Given the description of an element on the screen output the (x, y) to click on. 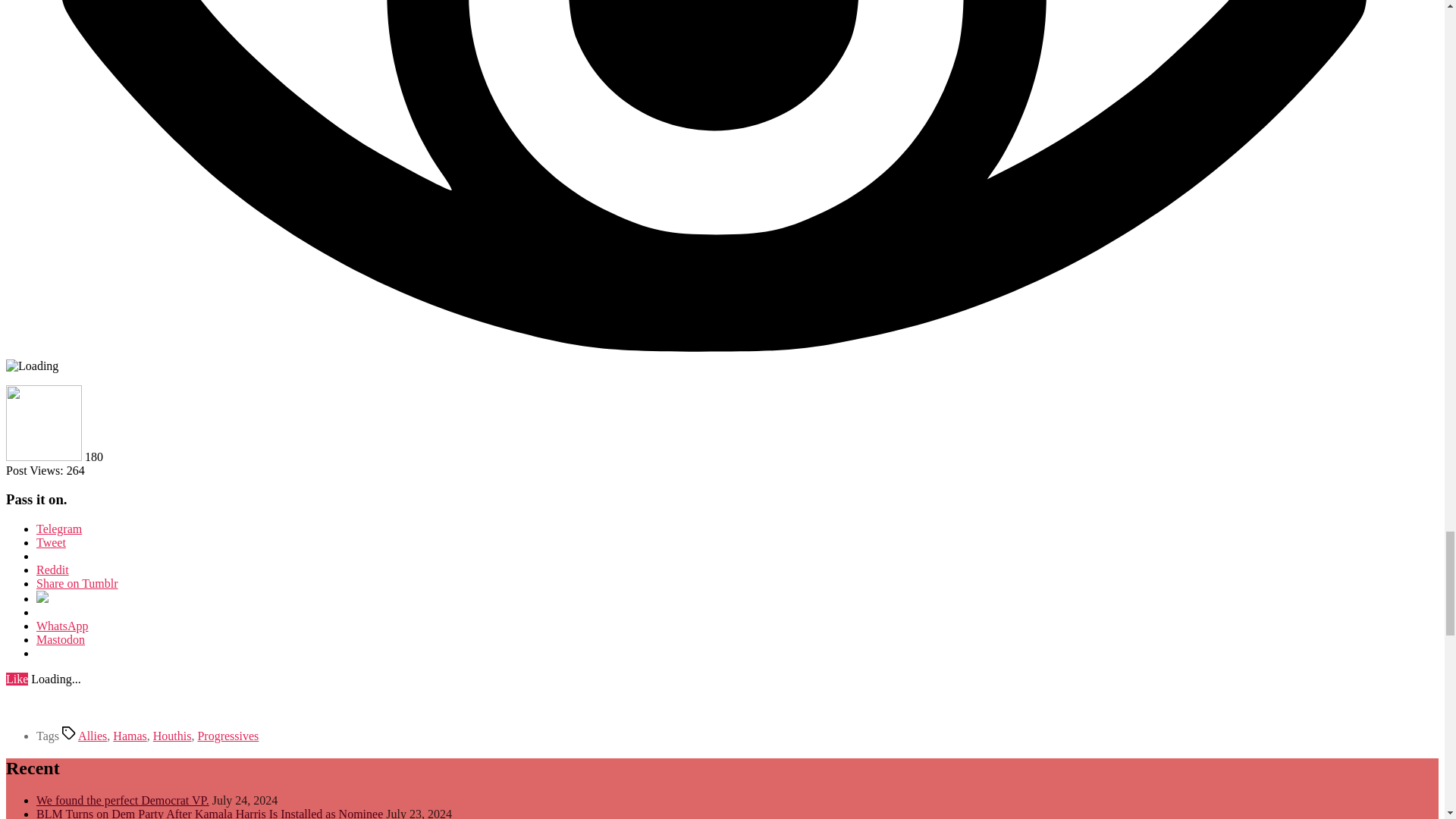
Share on Tumblr (76, 583)
Click to share on Reddit (52, 569)
Click to share on WhatsApp (61, 625)
Click to share on Telegram (58, 528)
Click to share on Mastodon (60, 639)
